Given the description of an element on the screen output the (x, y) to click on. 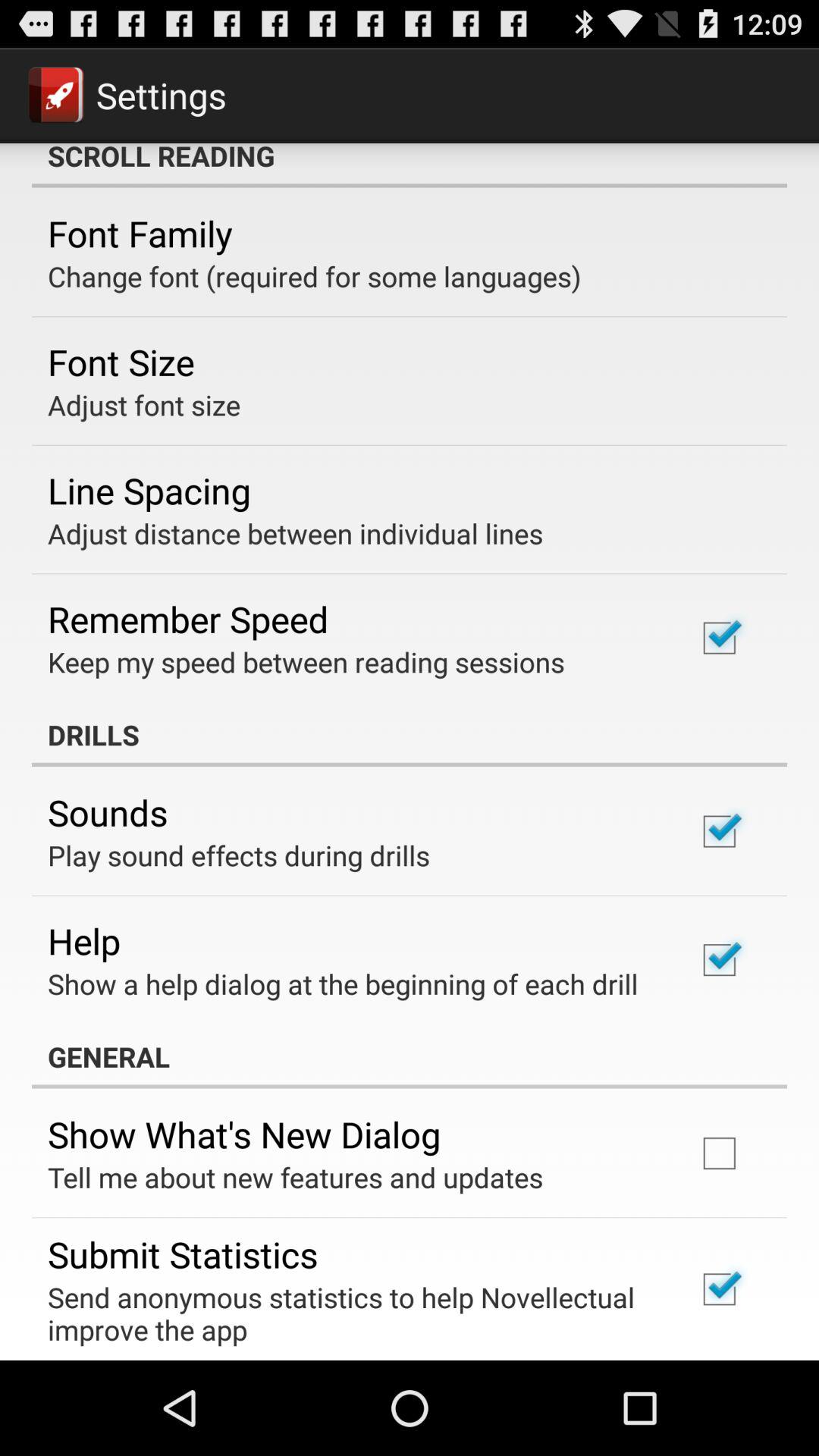
swipe until send anonymous statistics (351, 1313)
